Given the description of an element on the screen output the (x, y) to click on. 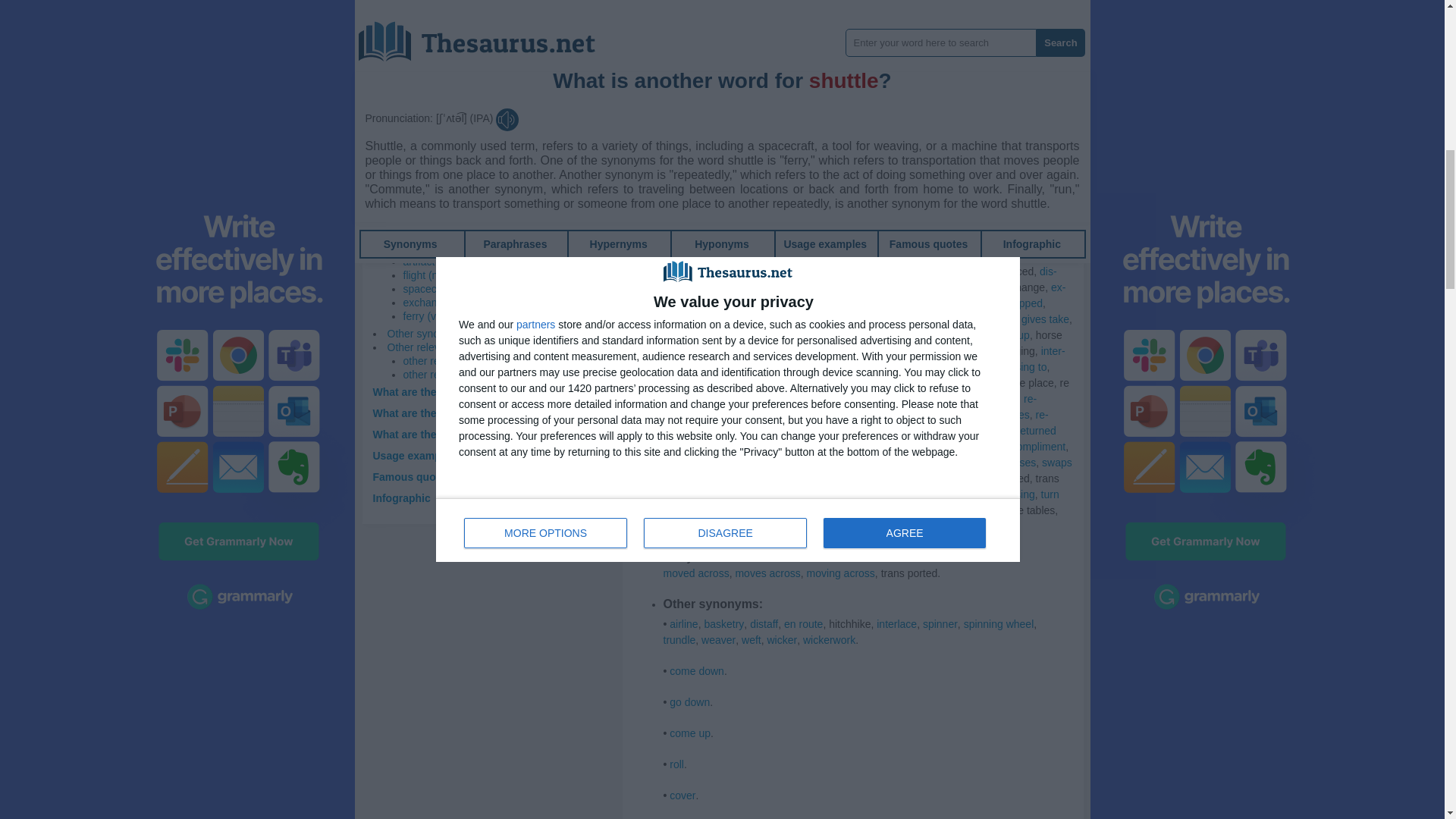
Other synonyms (425, 333)
Synonyms for Shuttle (780, 15)
What is another word for shuttle? (456, 218)
Synonyms for Shuttle (909, 110)
mass transit (697, 15)
Synonyms for Shuttle (766, 223)
Synonyms for Shuttle (707, 239)
Synonyms for Shuttle (862, 231)
Synonyms for Shuttle (813, 110)
What are the hyponyms for shuttle? (463, 434)
Synonyms for Shuttle (734, 62)
Infographic (401, 498)
public transportation (780, 15)
What are the paraphrases for shuttle? (468, 391)
Synonyms for Shuttle (758, 239)
